Given the description of an element on the screen output the (x, y) to click on. 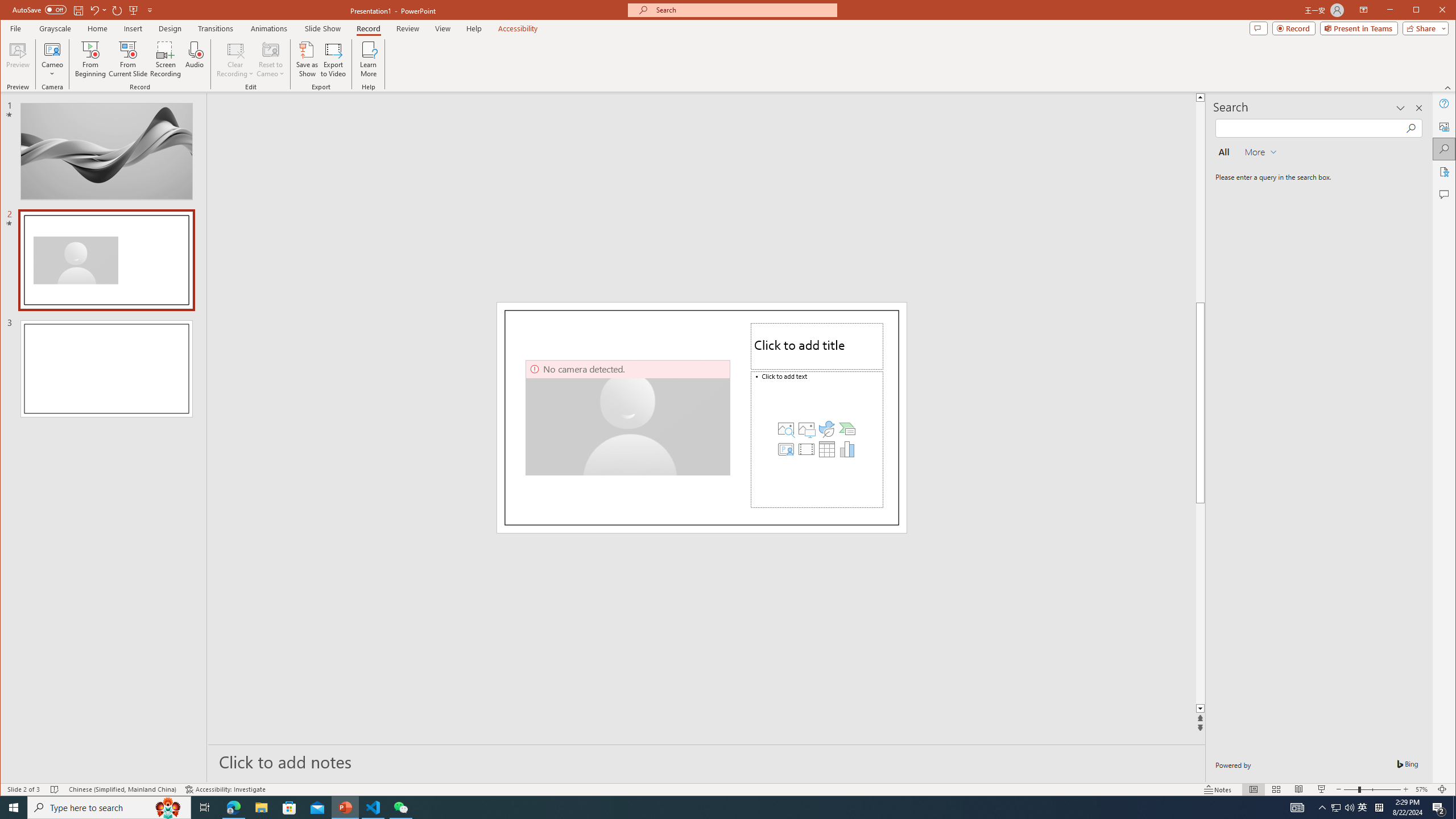
Content Placeholder (817, 439)
